Given the description of an element on the screen output the (x, y) to click on. 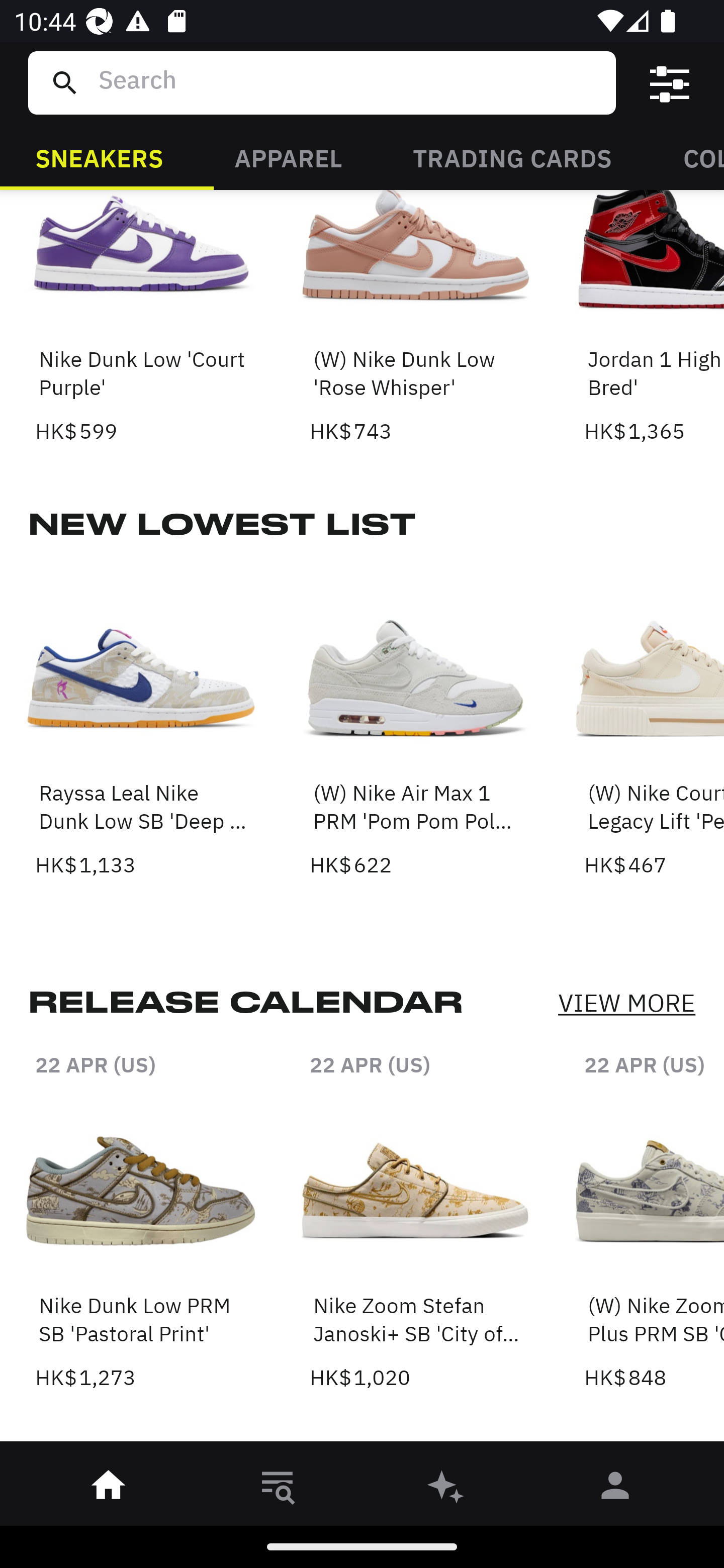
Search (349, 82)
 (669, 82)
SNEAKERS (99, 156)
APPAREL (287, 156)
TRADING CARDS (512, 156)
Nike Dunk Low 'Court Purple' HK$ 599 (140, 318)
(W) Nike Dunk Low 'Rose Whisper' HK$ 743 (414, 318)
Jordan 1 High 'Patent Bred' HK$ 1,365 (654, 318)
VIEW MORE (626, 1003)
󰋜 (108, 1488)
󱎸 (277, 1488)
󰫢 (446, 1488)
󰀄 (615, 1488)
